Given the description of an element on the screen output the (x, y) to click on. 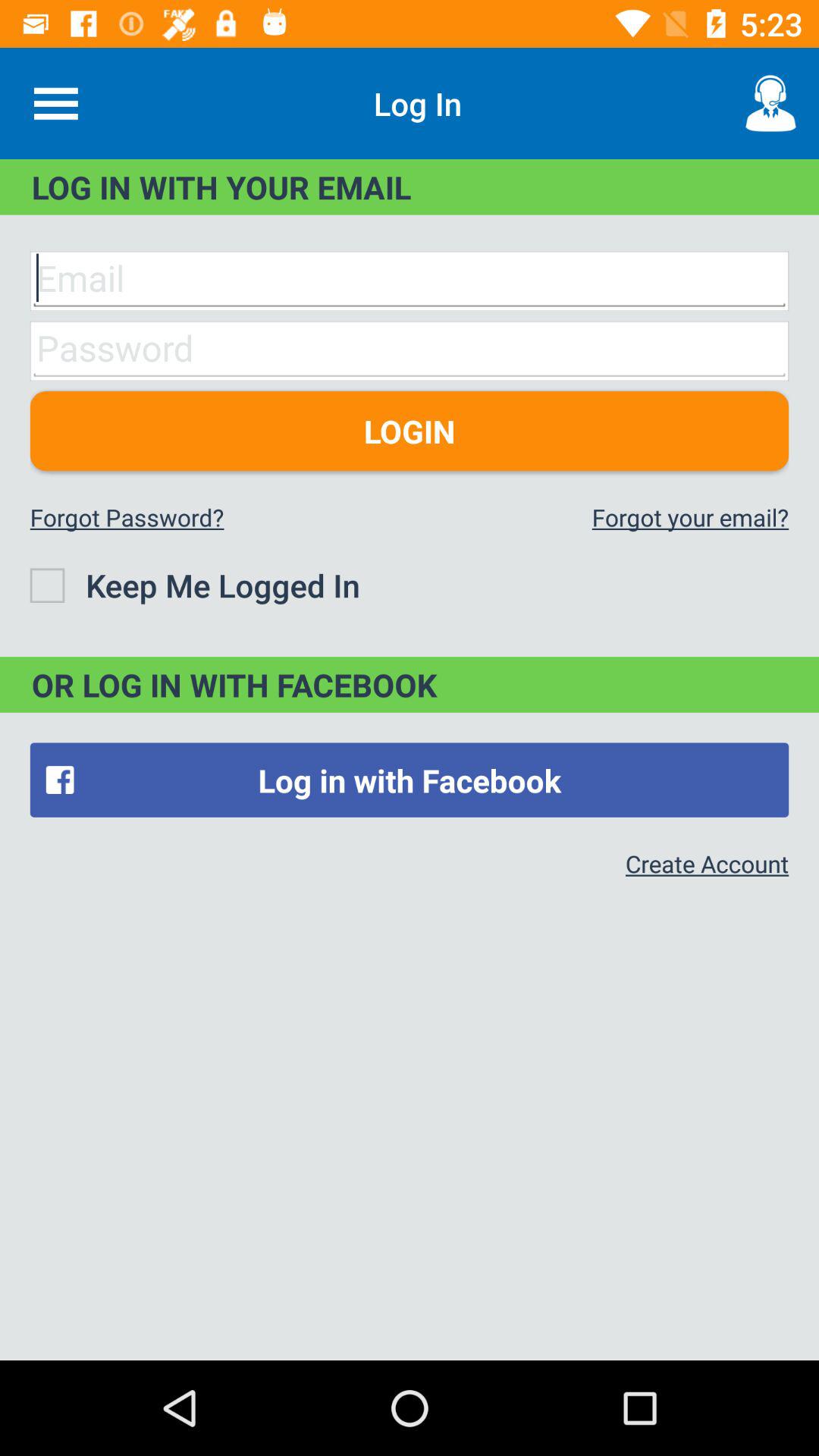
scroll until the keep me logged item (195, 584)
